Given the description of an element on the screen output the (x, y) to click on. 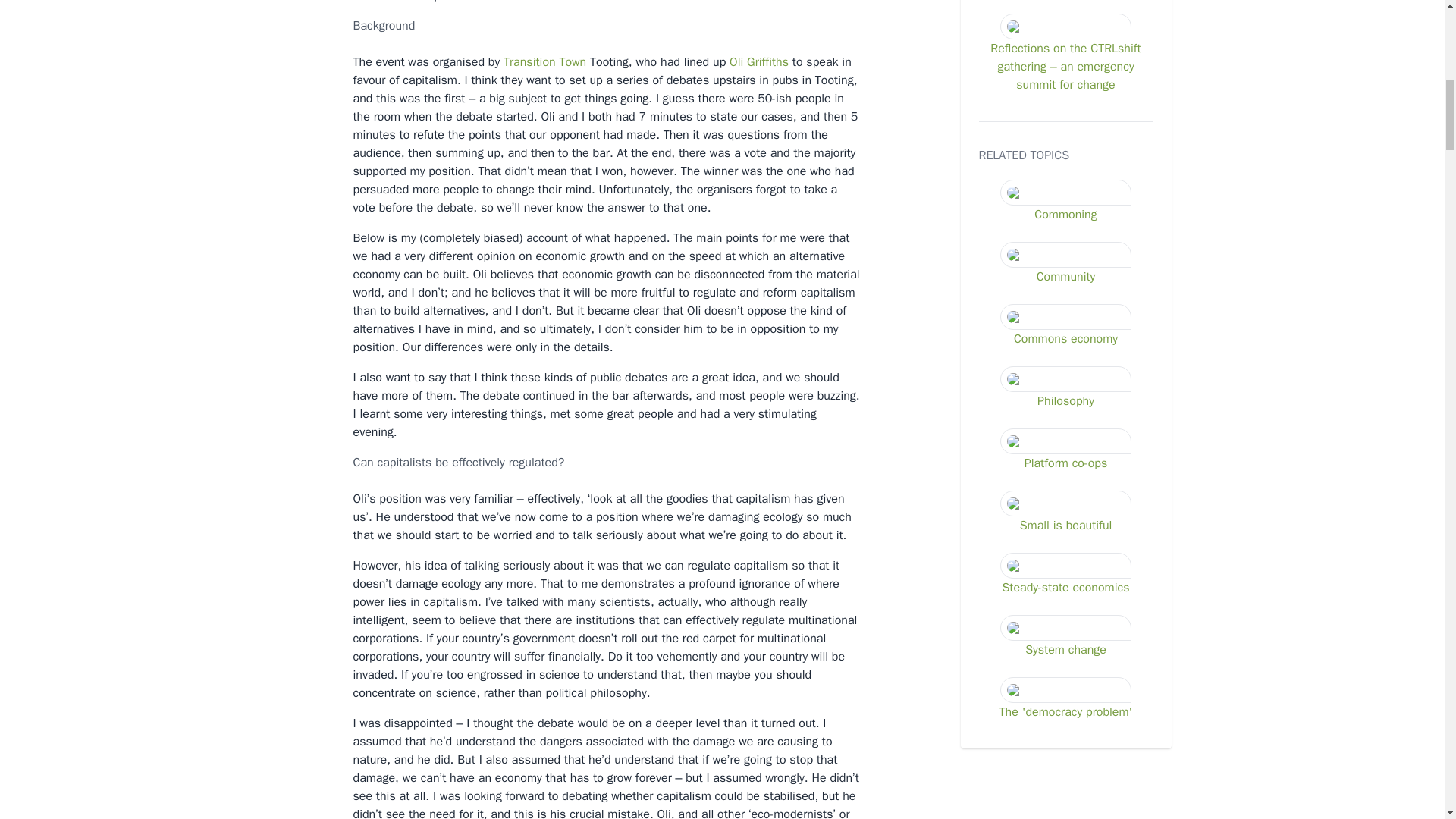
Oli (735, 61)
ffiths (775, 61)
Gri (751, 61)
Transition Town (544, 61)
